Given the description of an element on the screen output the (x, y) to click on. 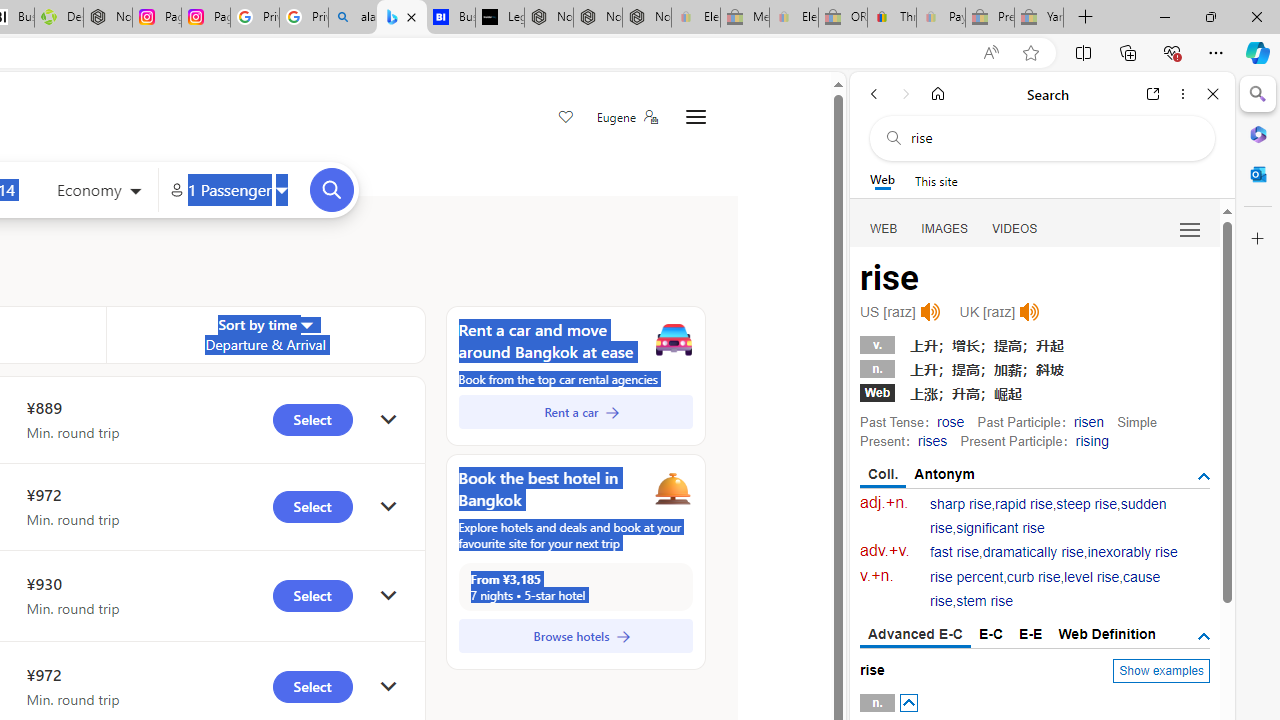
rising (1091, 440)
level rise (1091, 577)
Microsoft Bing Travel - Flights from Hong Kong to Bangkok (401, 17)
Save (565, 118)
Web Definition (1106, 633)
Select class of service (98, 192)
